Given the description of an element on the screen output the (x, y) to click on. 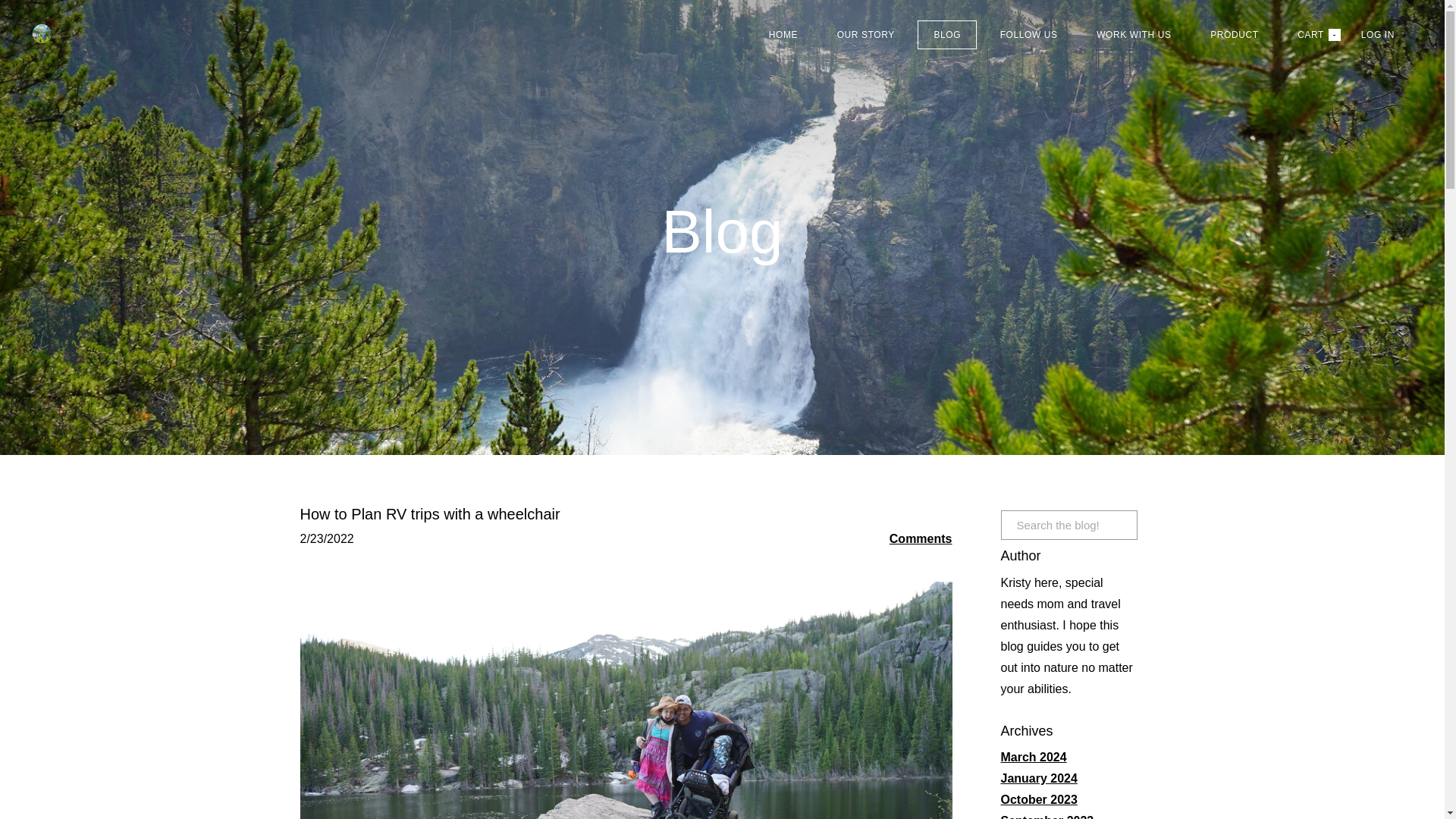
March 2024 (1034, 757)
HOME (782, 34)
OUR STORY (866, 34)
PRODUCT (1234, 34)
September 2023 (1047, 816)
Comments (920, 538)
BLOG (946, 34)
LOG IN (1377, 34)
January 2024 (1039, 778)
Search (1126, 524)
FOLLOW US (1029, 34)
October 2023 (1039, 799)
CART - (1310, 34)
WORK WITH US (1134, 34)
How to Plan RV trips with a wheelchair (429, 514)
